Given the description of an element on the screen output the (x, y) to click on. 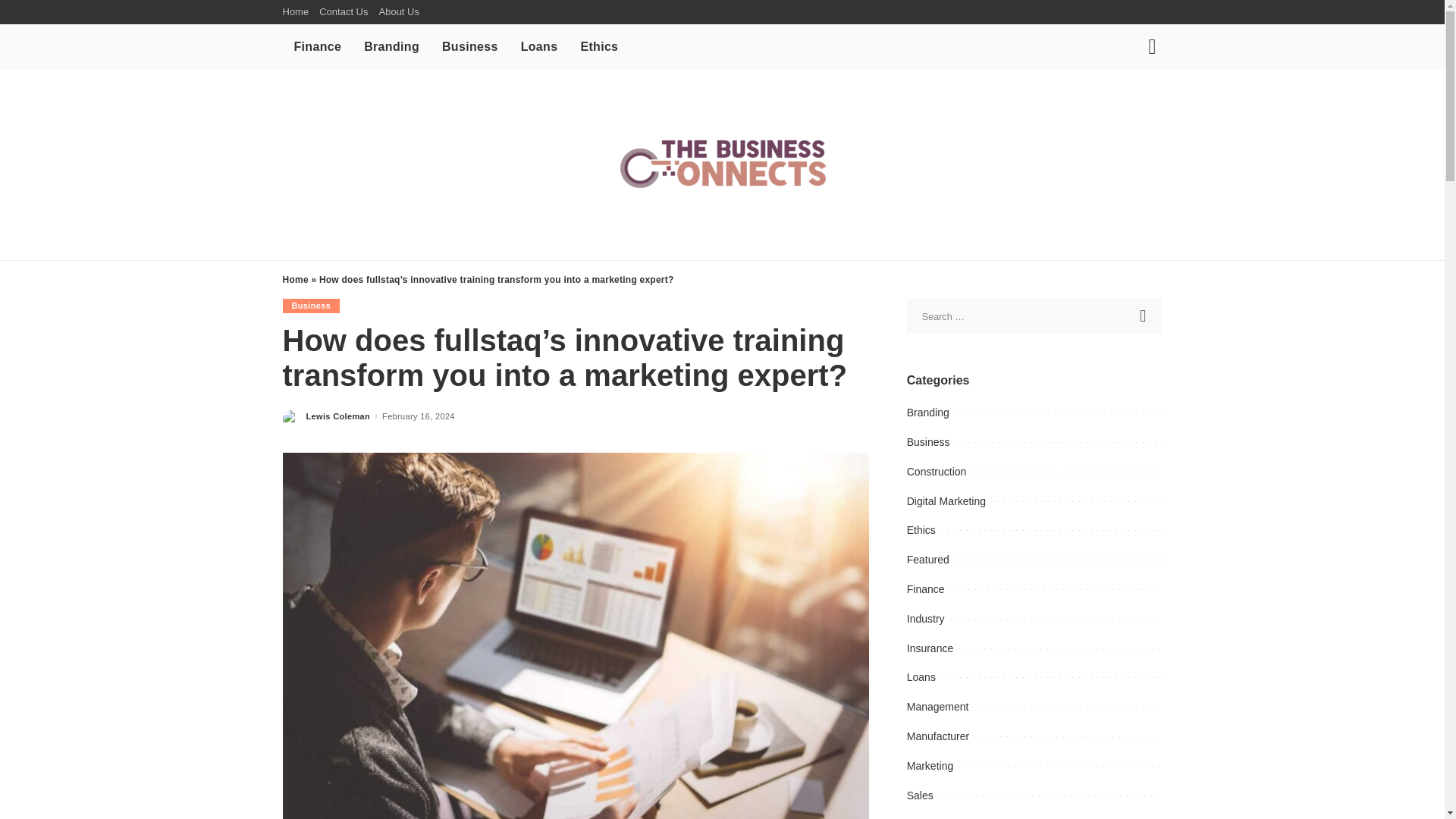
Contact Us (343, 11)
Search (1143, 315)
Branding (391, 46)
Lewis Coleman (338, 416)
Finance (317, 46)
The Business Connects (721, 164)
About Us (397, 11)
Business (469, 46)
Business (310, 305)
Ethics (598, 46)
Home (294, 279)
Search (1140, 100)
Search (1143, 315)
Search (1143, 315)
Home (298, 11)
